Given the description of an element on the screen output the (x, y) to click on. 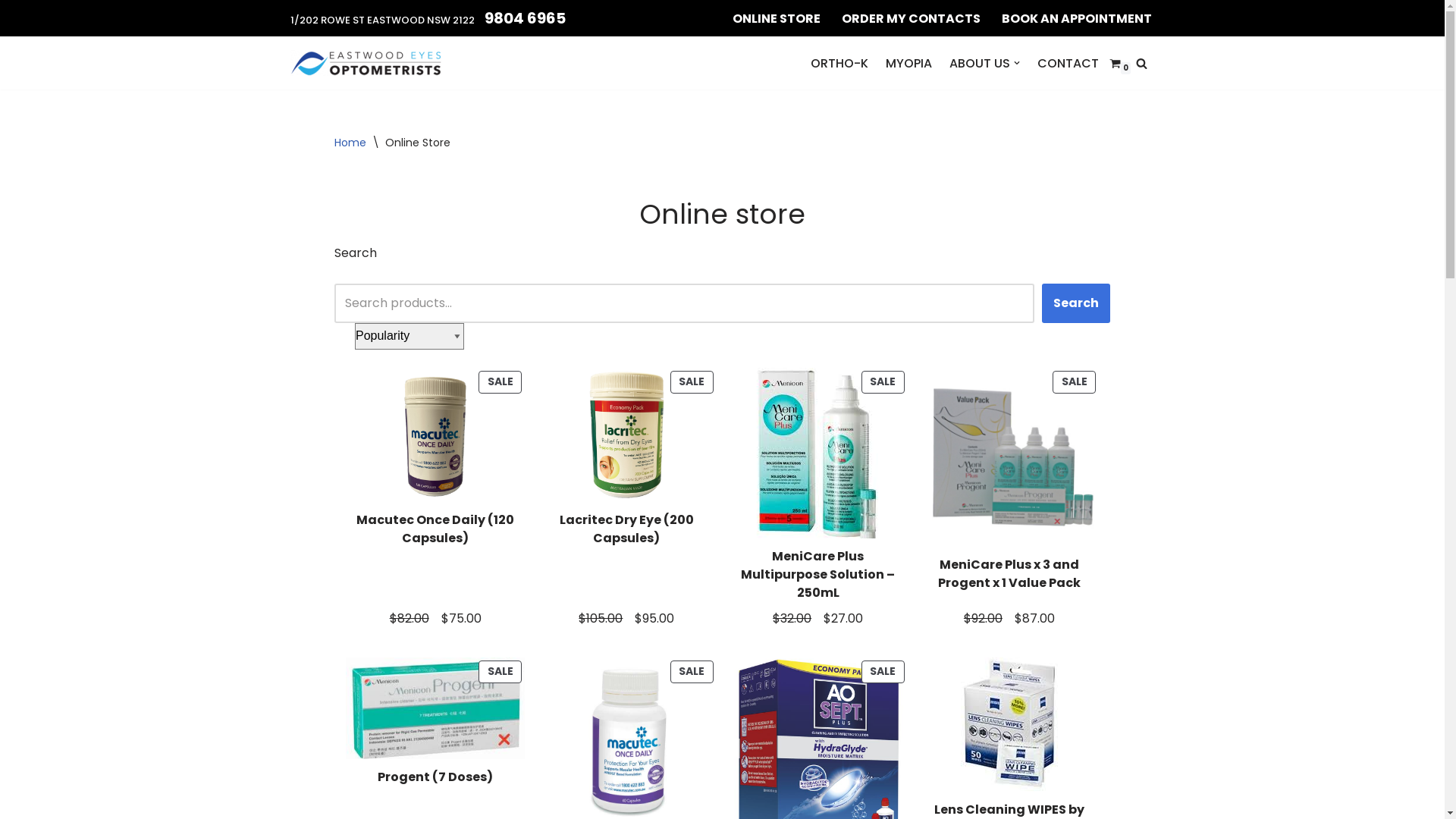
CONTACT Element type: text (1067, 63)
SALE Element type: text (625, 433)
BOOK AN APPOINTMENT Element type: text (1076, 18)
Progent (7 Doses) Element type: text (434, 776)
Lacritec Dry Eye (200 Capsules) Element type: text (626, 528)
SALE Element type: text (817, 769)
ONLINE STORE Element type: text (776, 18)
MYOPIA Element type: text (908, 63)
SALE Element type: text (434, 706)
SALE Element type: text (434, 433)
SALE Element type: text (817, 452)
Search Element type: text (1075, 303)
SALE Element type: text (1008, 455)
0 Element type: text (1114, 63)
ORDER MY CONTACTS Element type: text (910, 18)
Skip to content Element type: text (11, 31)
Macutec Once Daily (120 Capsules) Element type: text (435, 528)
SALE Element type: text (625, 736)
MeniCare Plus x 3 and Progent x 1 Value Pack Element type: text (1009, 573)
ABOUT US Element type: text (979, 63)
Home Element type: text (350, 142)
ORTHO-K Element type: text (838, 63)
